Given the description of an element on the screen output the (x, y) to click on. 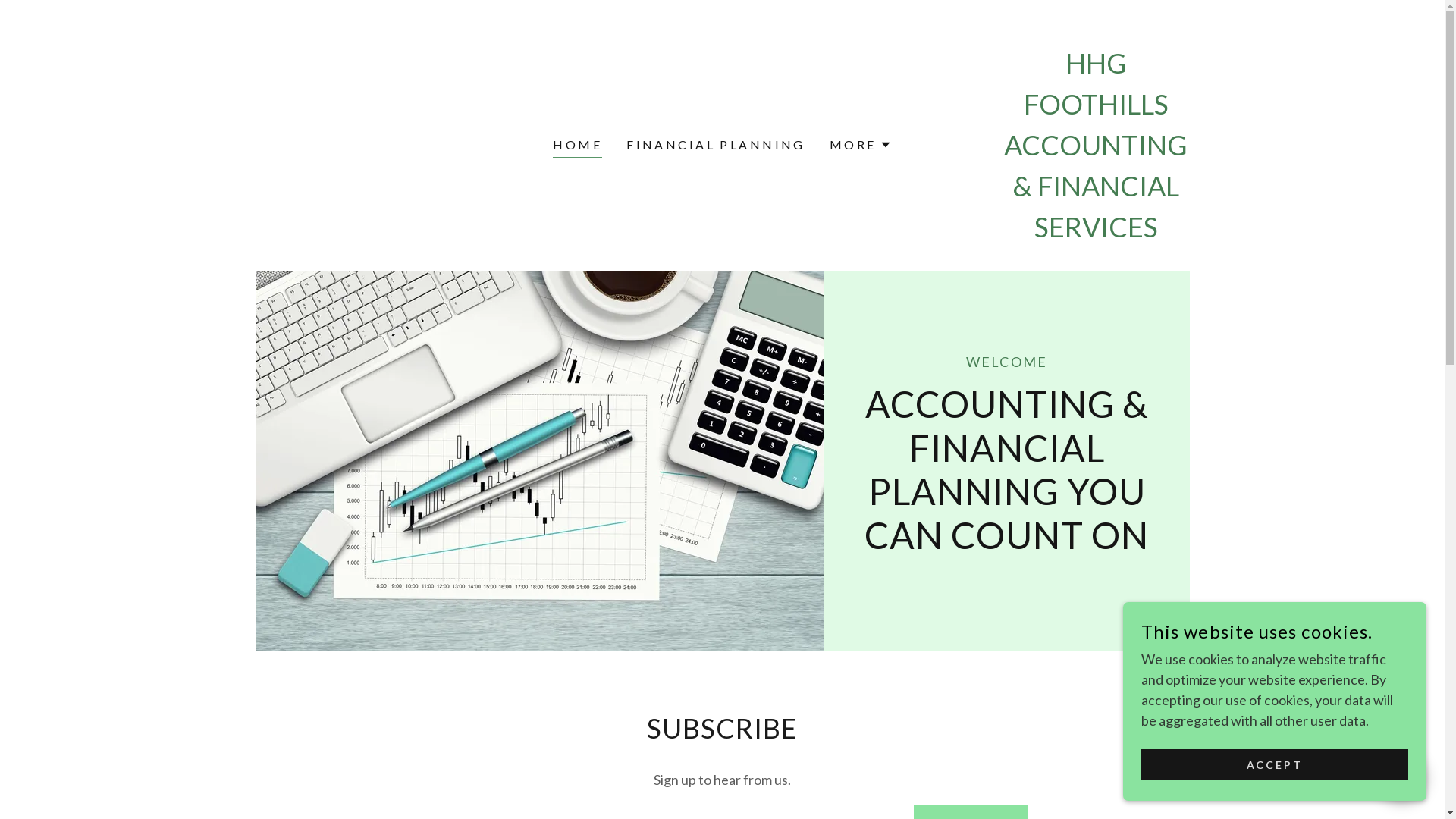
HOME Element type: text (577, 146)
ACCEPT Element type: text (1274, 764)
MORE Element type: text (860, 144)
FINANCIAL PLANNING Element type: text (715, 144)
